Given the description of an element on the screen output the (x, y) to click on. 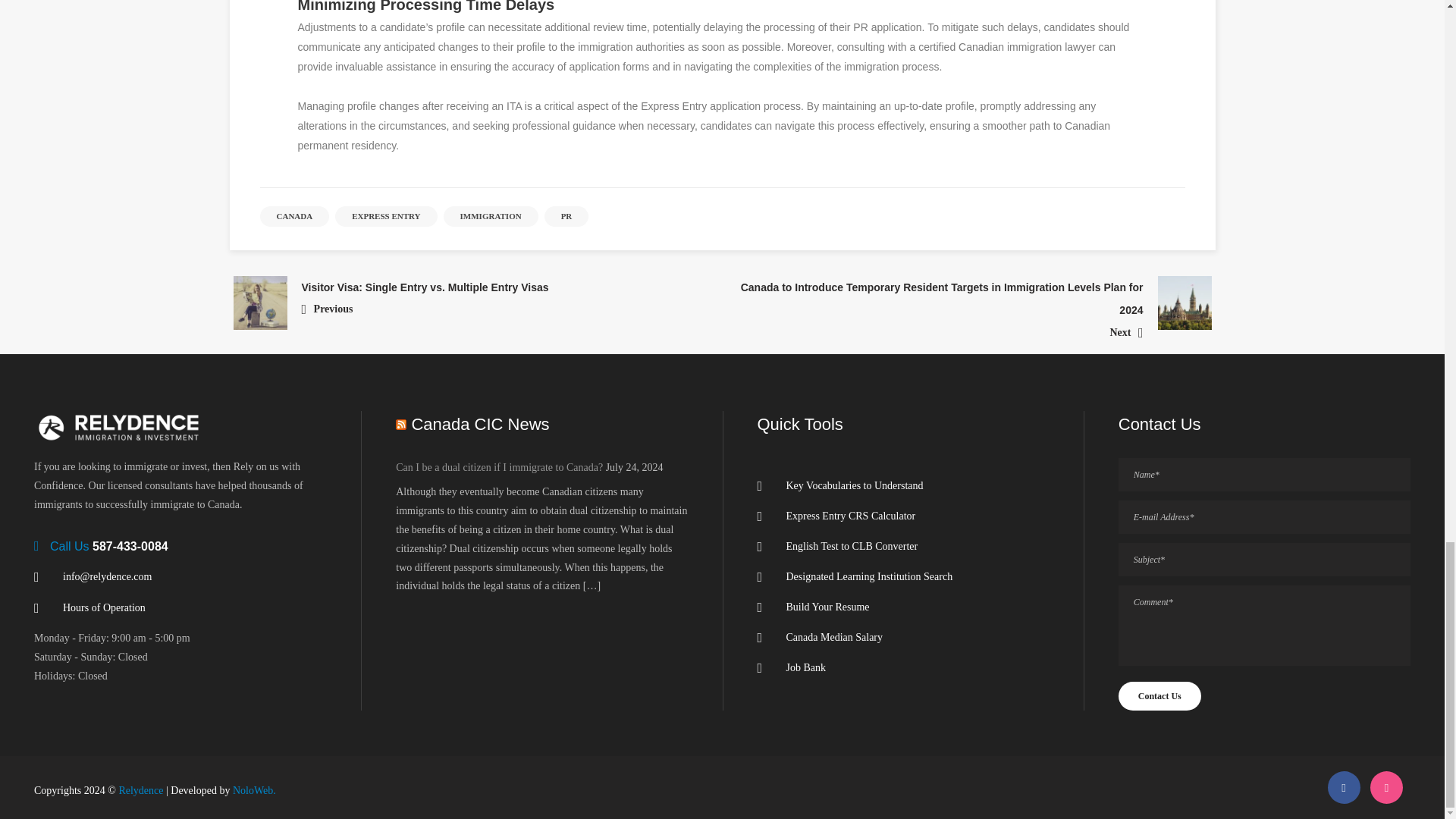
Contact Us (1159, 695)
